Given the description of an element on the screen output the (x, y) to click on. 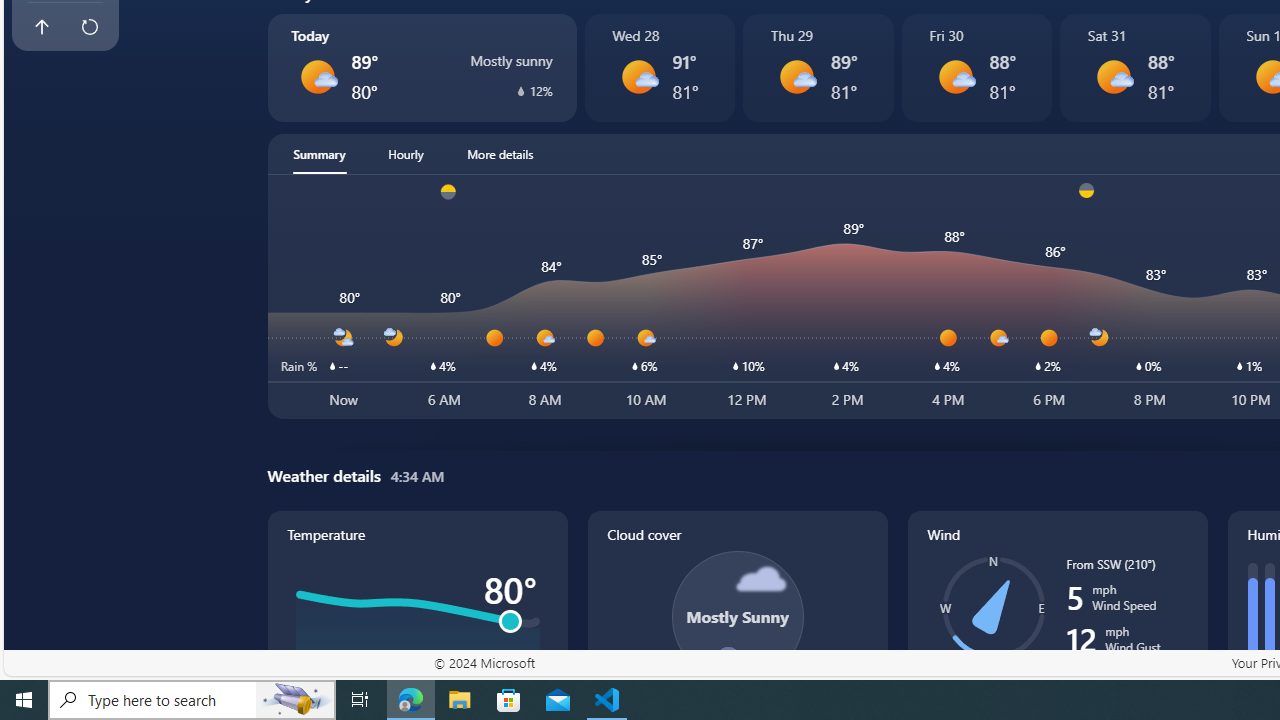
Hourly (406, 153)
Mostly sunny (1114, 76)
Back to top (41, 26)
More details (500, 153)
Refresh this page (89, 26)
